Given the description of an element on the screen output the (x, y) to click on. 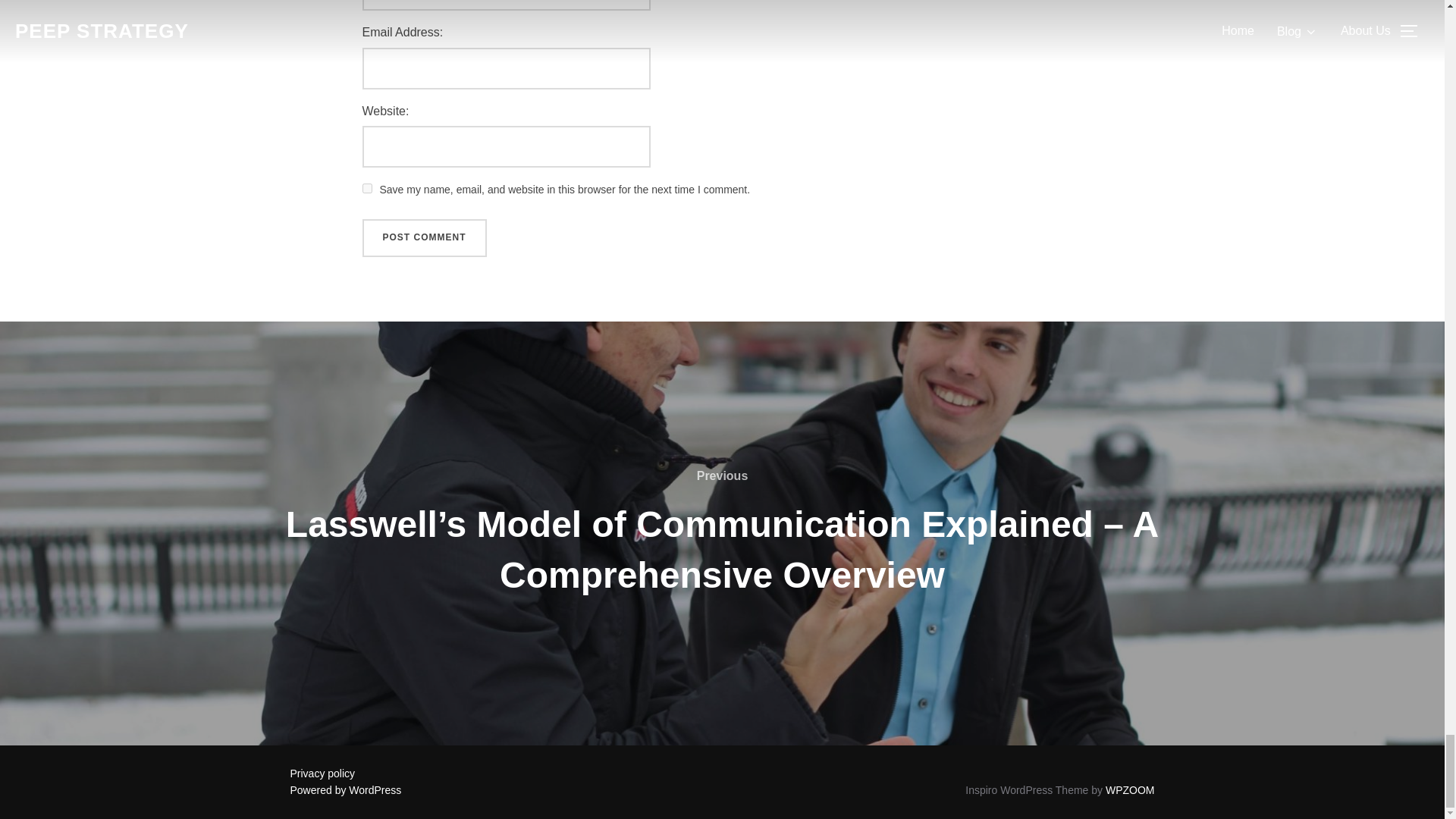
yes (367, 188)
Post Comment (424, 238)
